Given the description of an element on the screen output the (x, y) to click on. 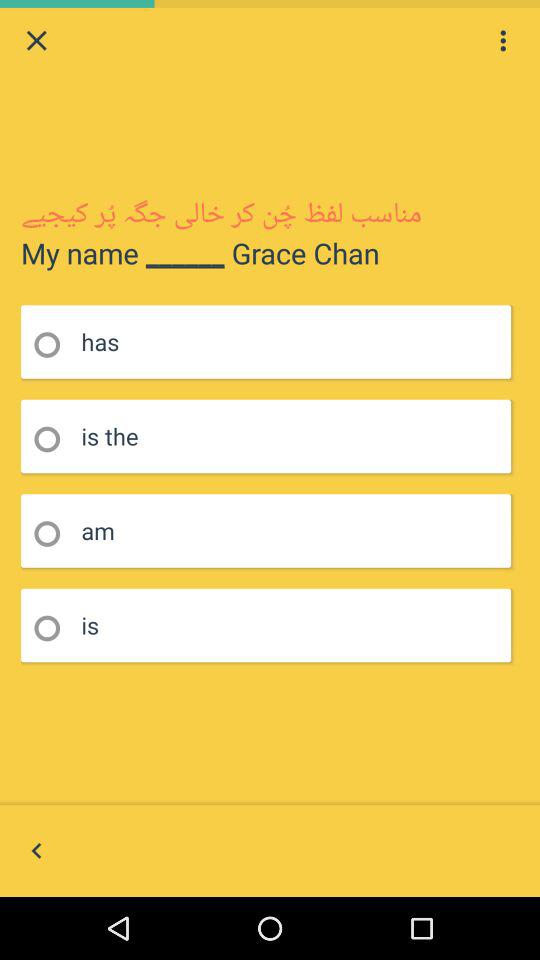
select item (53, 344)
